Given the description of an element on the screen output the (x, y) to click on. 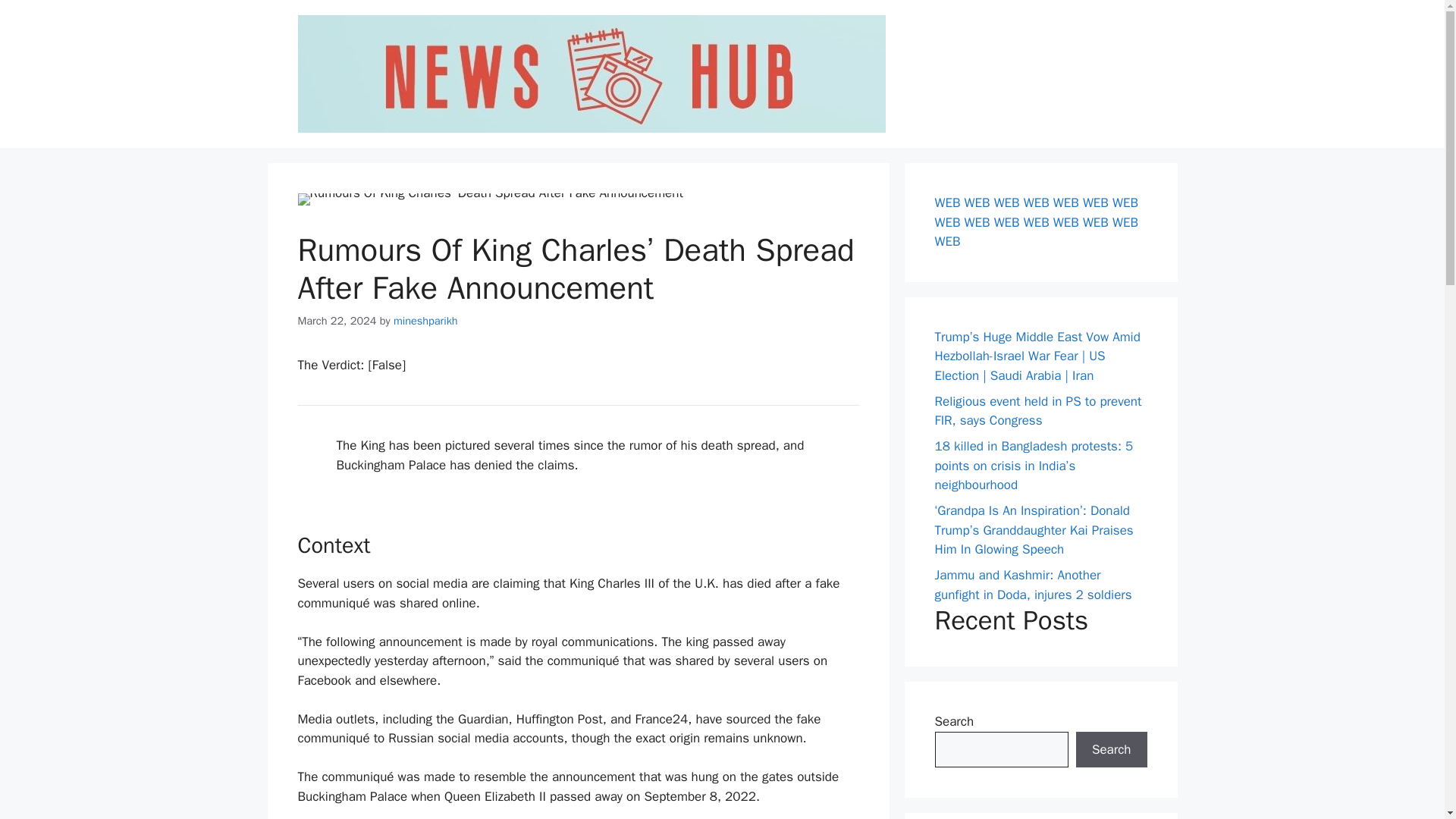
View all posts by mineshparikh (425, 320)
WEB (976, 221)
WEB (1036, 221)
WEB (1065, 221)
WEB (1095, 202)
WEB (946, 241)
WEB (1007, 202)
Search (1111, 749)
WEB (1125, 202)
WEB (1095, 221)
mineshparikh (425, 320)
Religious event held in PS to prevent FIR, says Congress (1037, 410)
WEB (1036, 202)
WEB (946, 221)
